Given the description of an element on the screen output the (x, y) to click on. 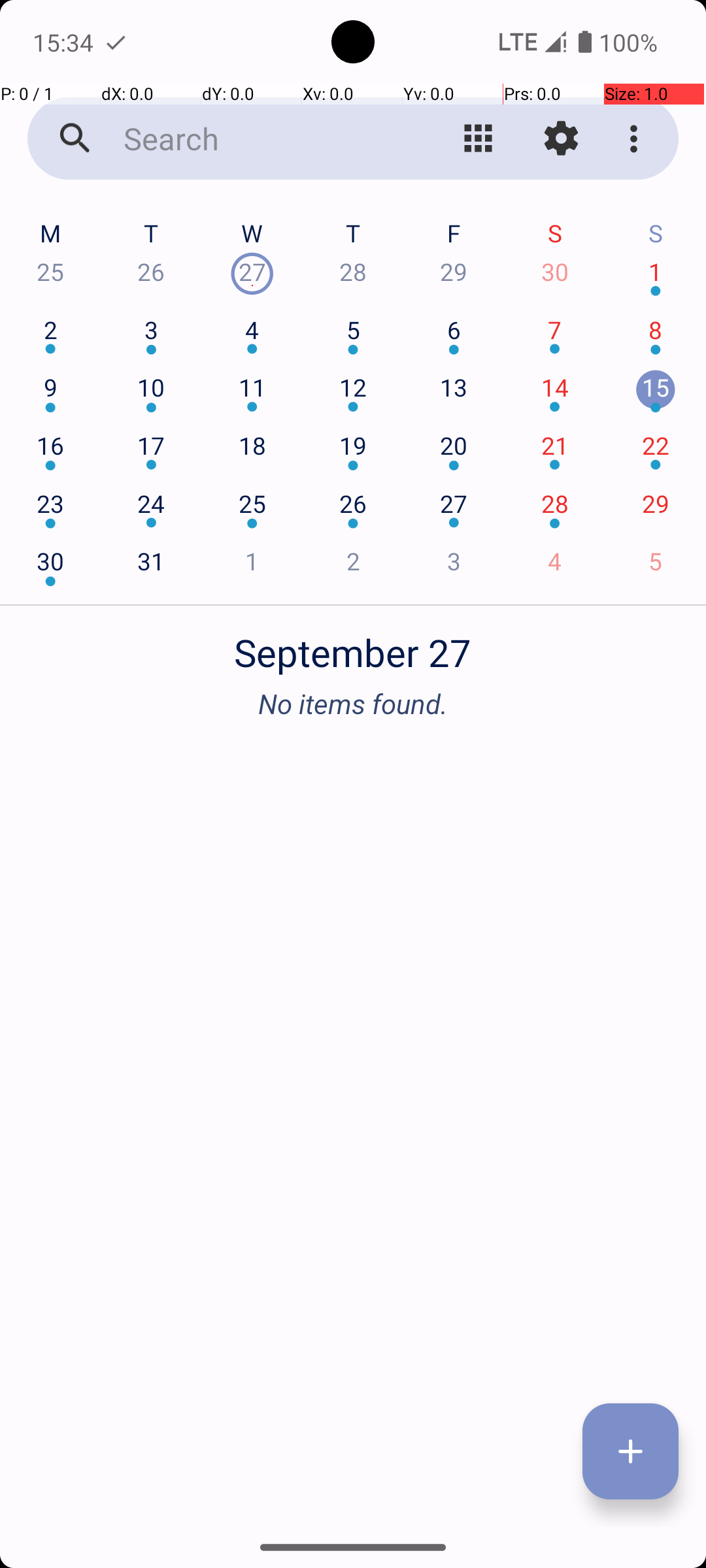
September 27 Element type: android.widget.TextView (352, 644)
